Given the description of an element on the screen output the (x, y) to click on. 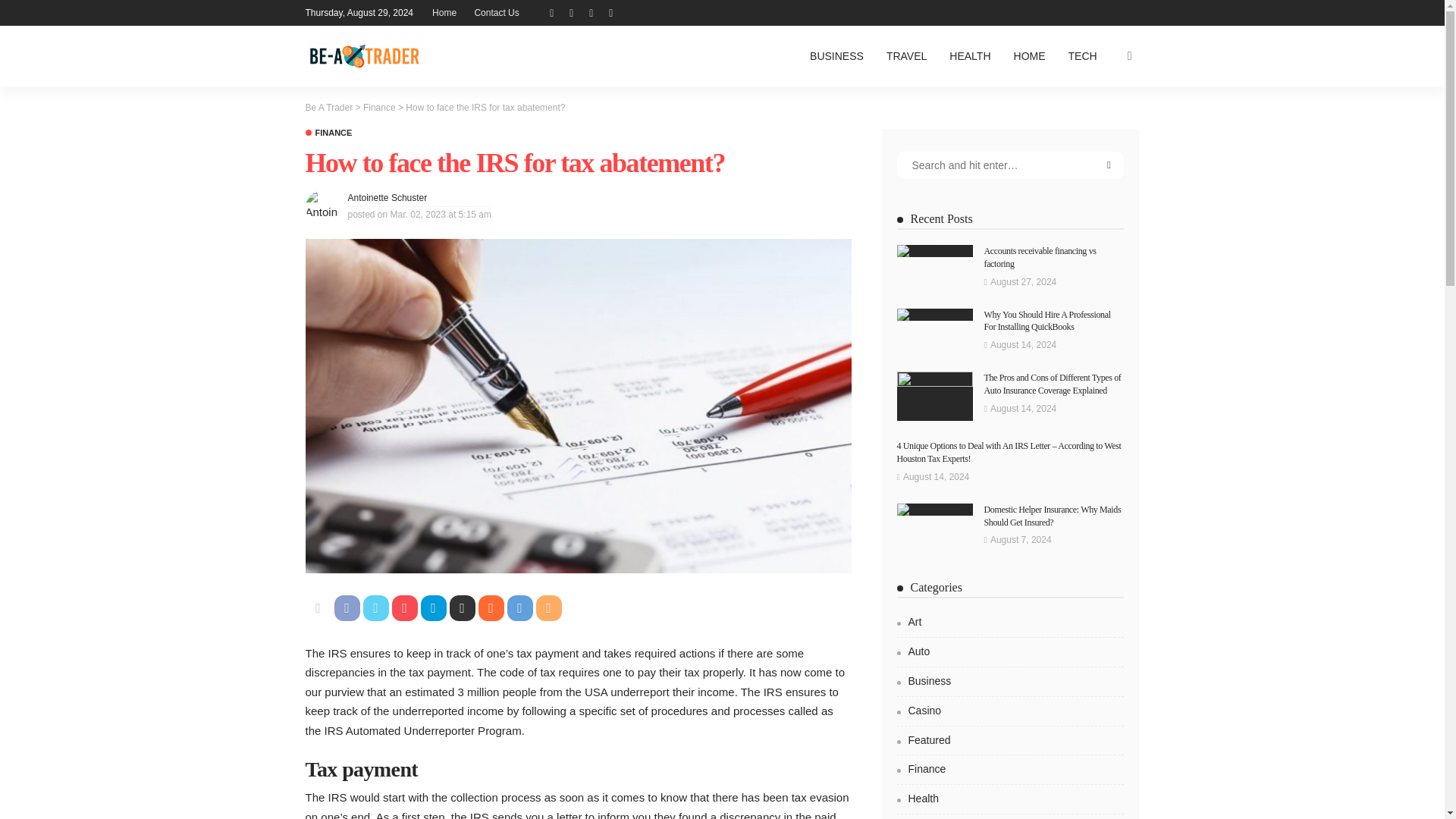
Go to Be A Trader. (328, 107)
HOME (1030, 55)
Be A Trader (328, 107)
Finance (379, 107)
TRAVEL (906, 55)
Be A Trader (363, 55)
Finance (328, 132)
Contact Us (495, 12)
Home (444, 12)
HEALTH (969, 55)
